Given the description of an element on the screen output the (x, y) to click on. 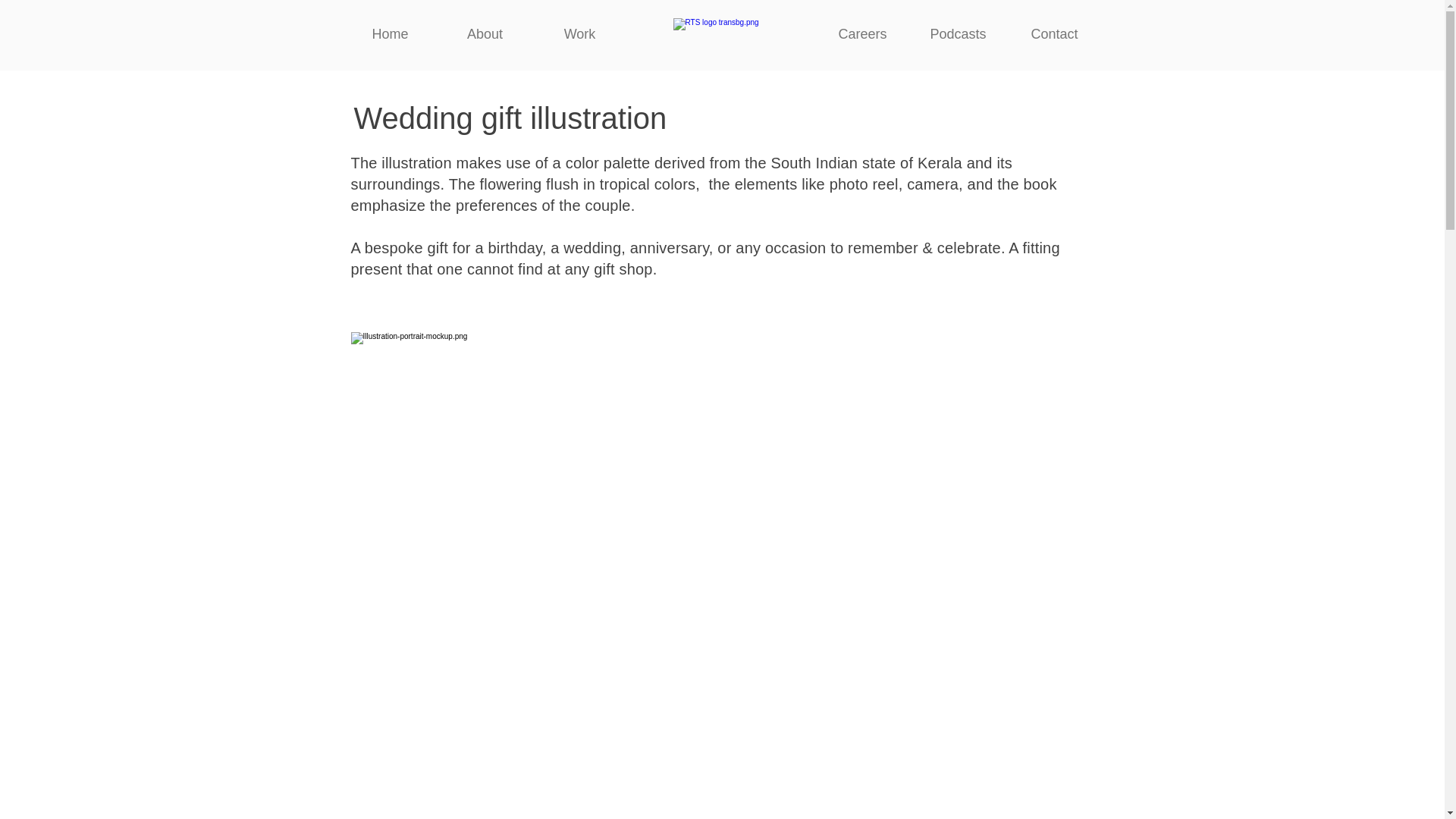
About (484, 34)
Podcasts (957, 34)
Home (389, 34)
Work (579, 34)
Careers (863, 34)
Contact (1053, 34)
